Given the description of an element on the screen output the (x, y) to click on. 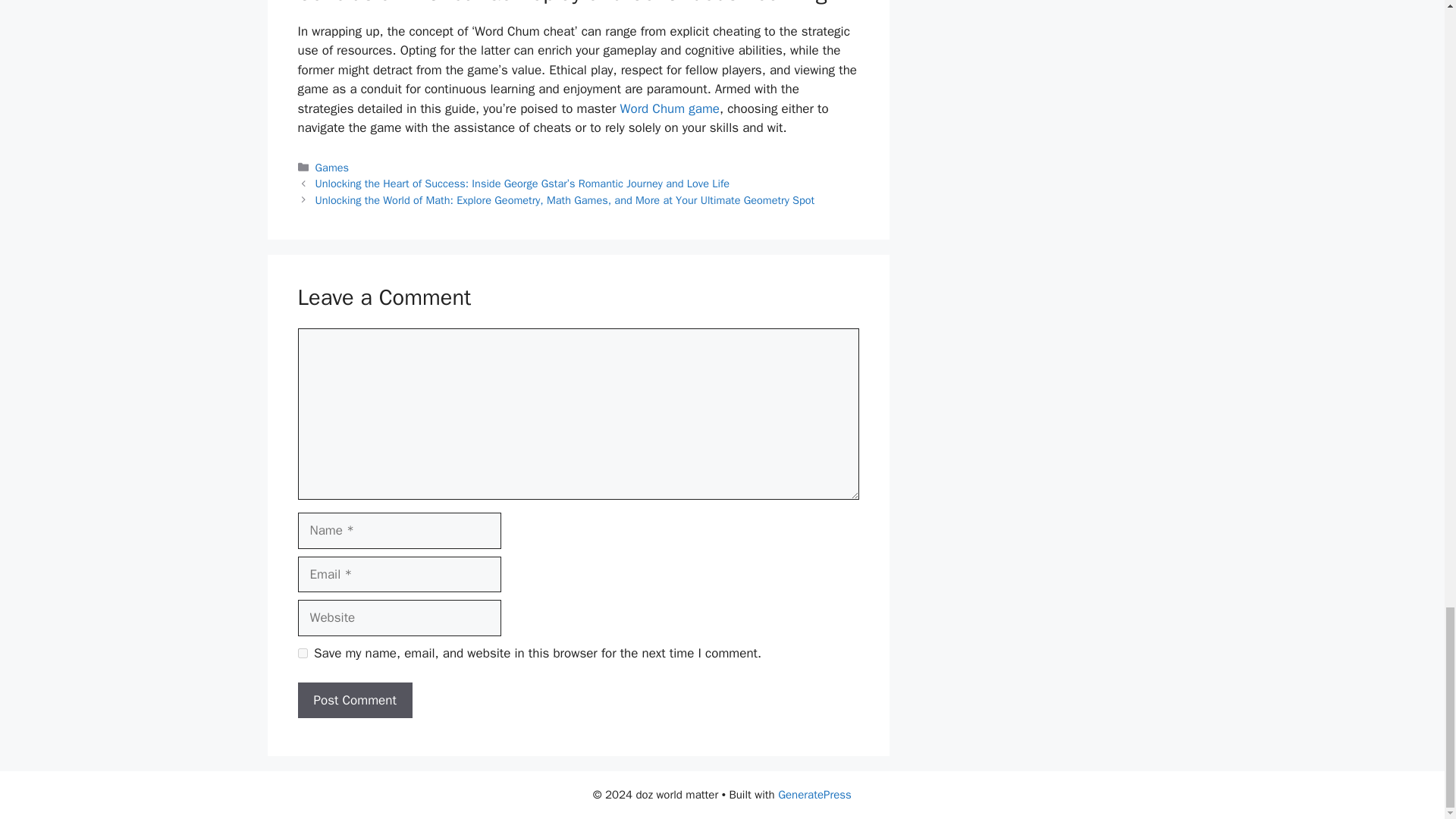
GeneratePress (814, 794)
Post Comment (354, 700)
Word Chum game (669, 108)
yes (302, 653)
Games (332, 167)
Post Comment (354, 700)
